Given the description of an element on the screen output the (x, y) to click on. 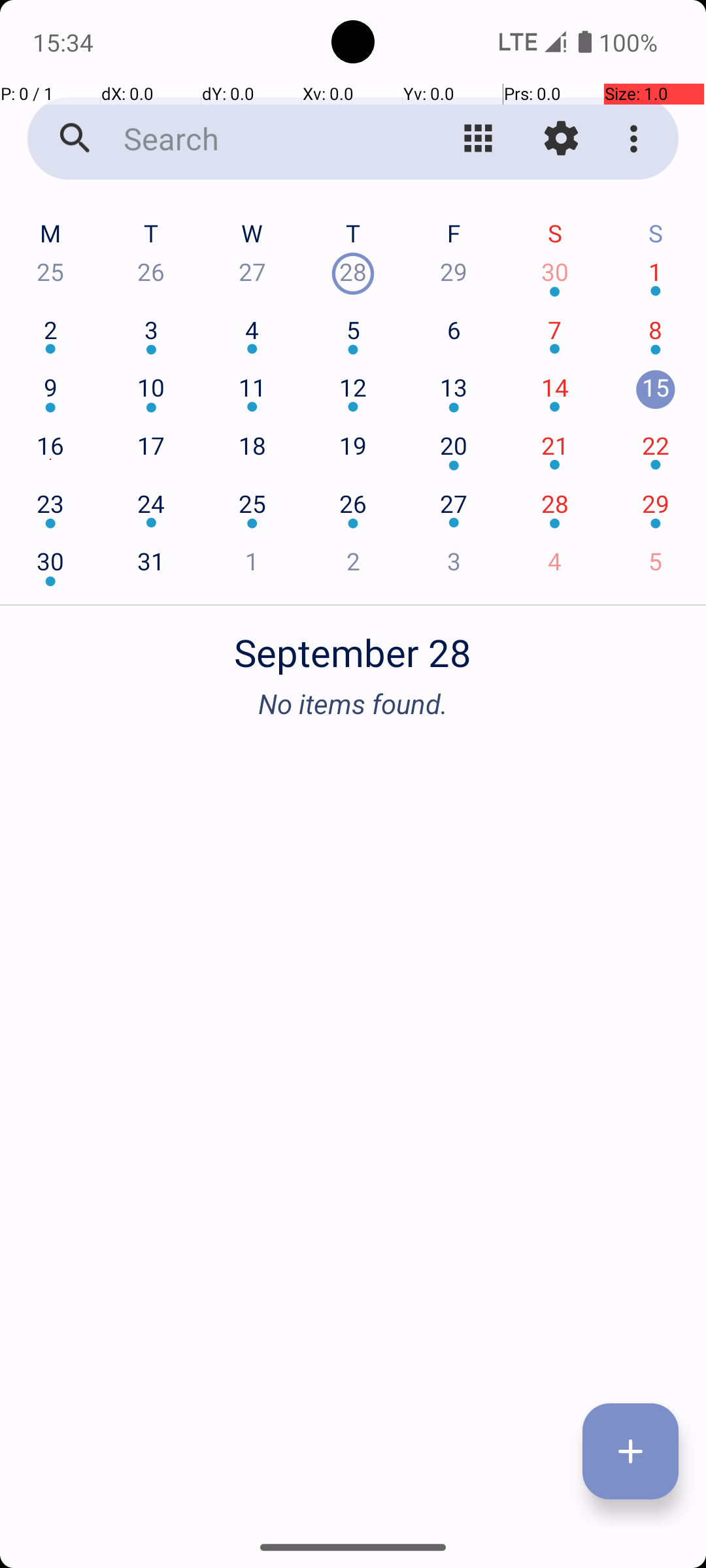
September 28 Element type: android.widget.TextView (352, 644)
